Given the description of an element on the screen output the (x, y) to click on. 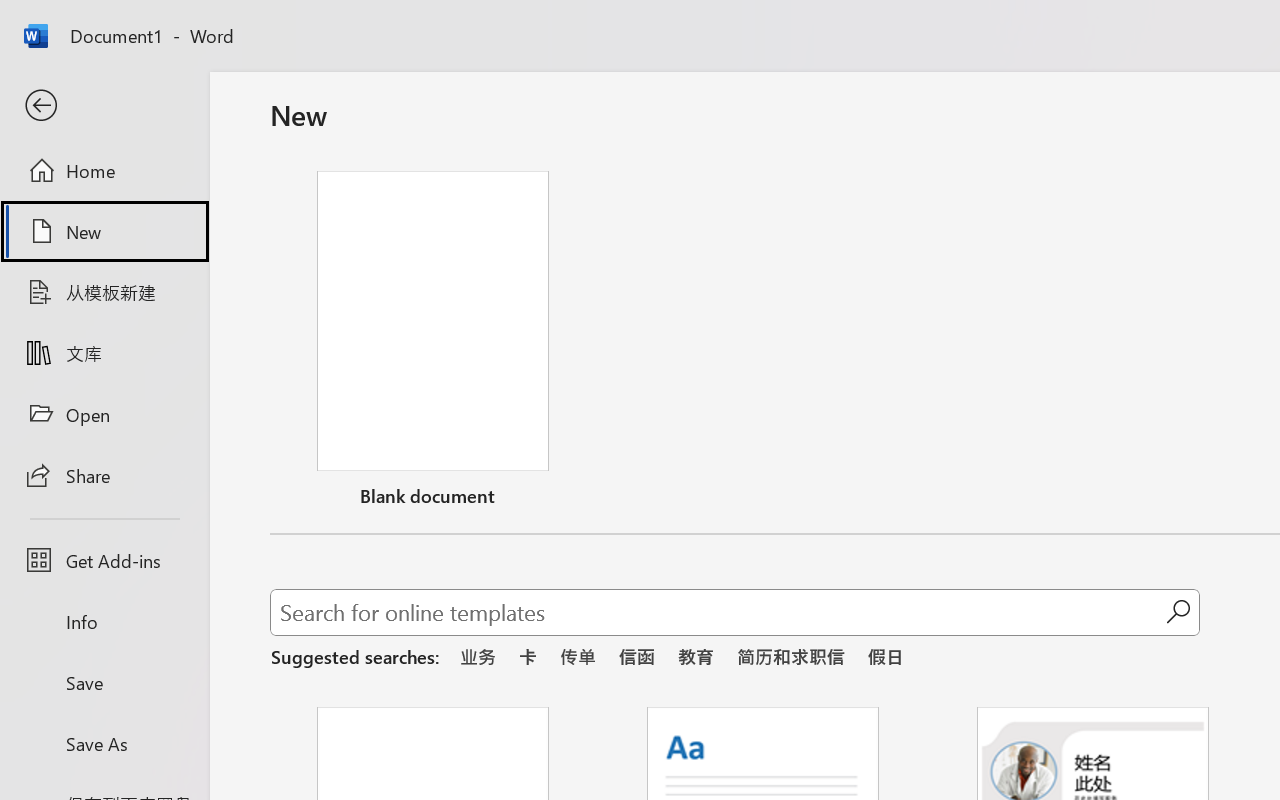
Blank document (433, 343)
Info (104, 621)
Start searching (1178, 612)
Get Add-ins (104, 560)
Search for online templates (718, 615)
New (104, 231)
